Given the description of an element on the screen output the (x, y) to click on. 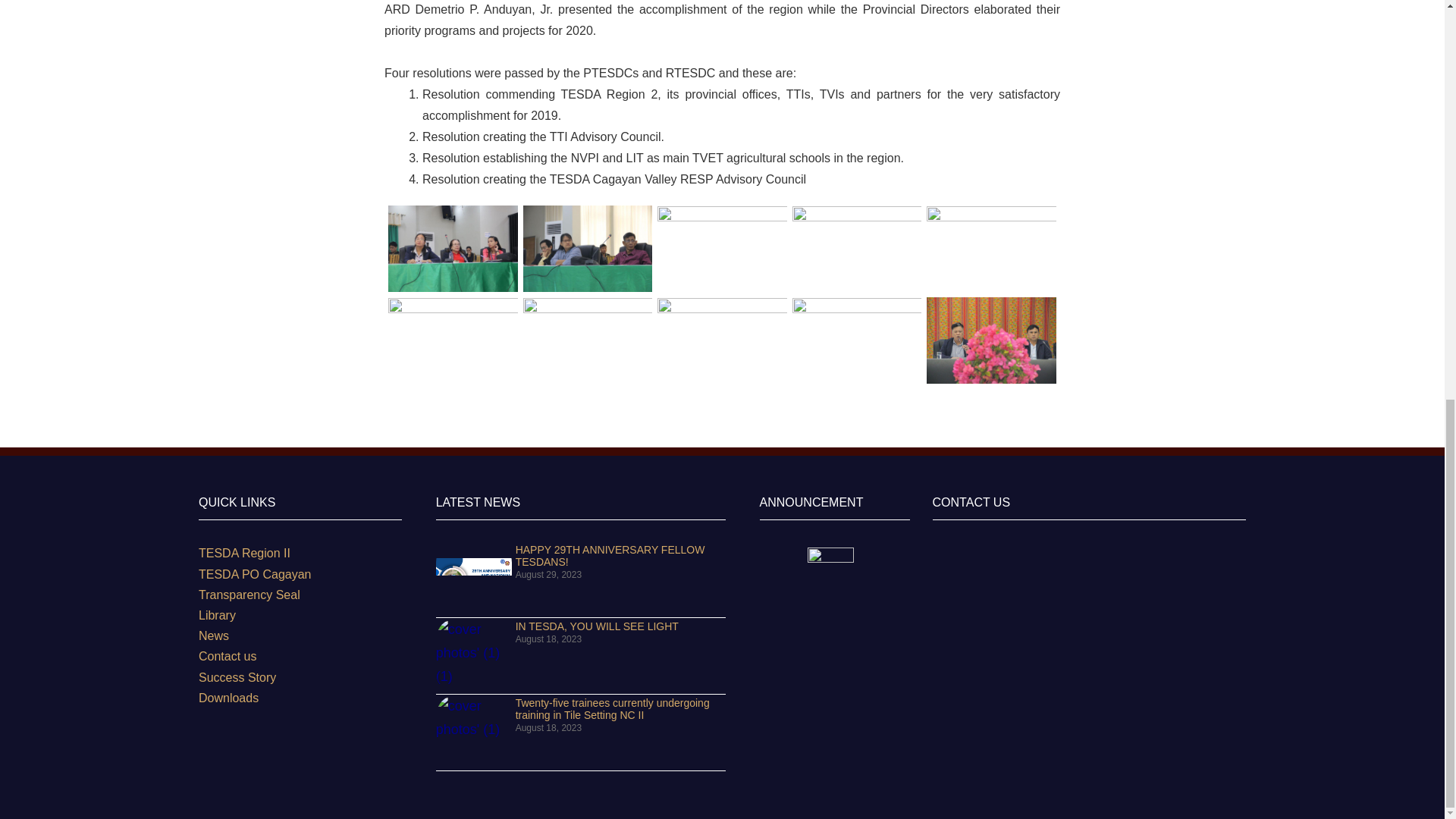
HAPPY 29TH ANNIVERSARY FELLOW TESDANS! (473, 579)
TESDA PO Cagayan (299, 574)
HAPPY 29TH ANNIVERSARY FELLOW TESDANS! (609, 555)
IN TESDA, YOU WILL SEE LIGHT (473, 655)
TESDA Region II (299, 552)
Aparri Polytechnic Institute (1089, 633)
IN TESDA, YOU WILL SEE LIGHT (596, 625)
